Given the description of an element on the screen output the (x, y) to click on. 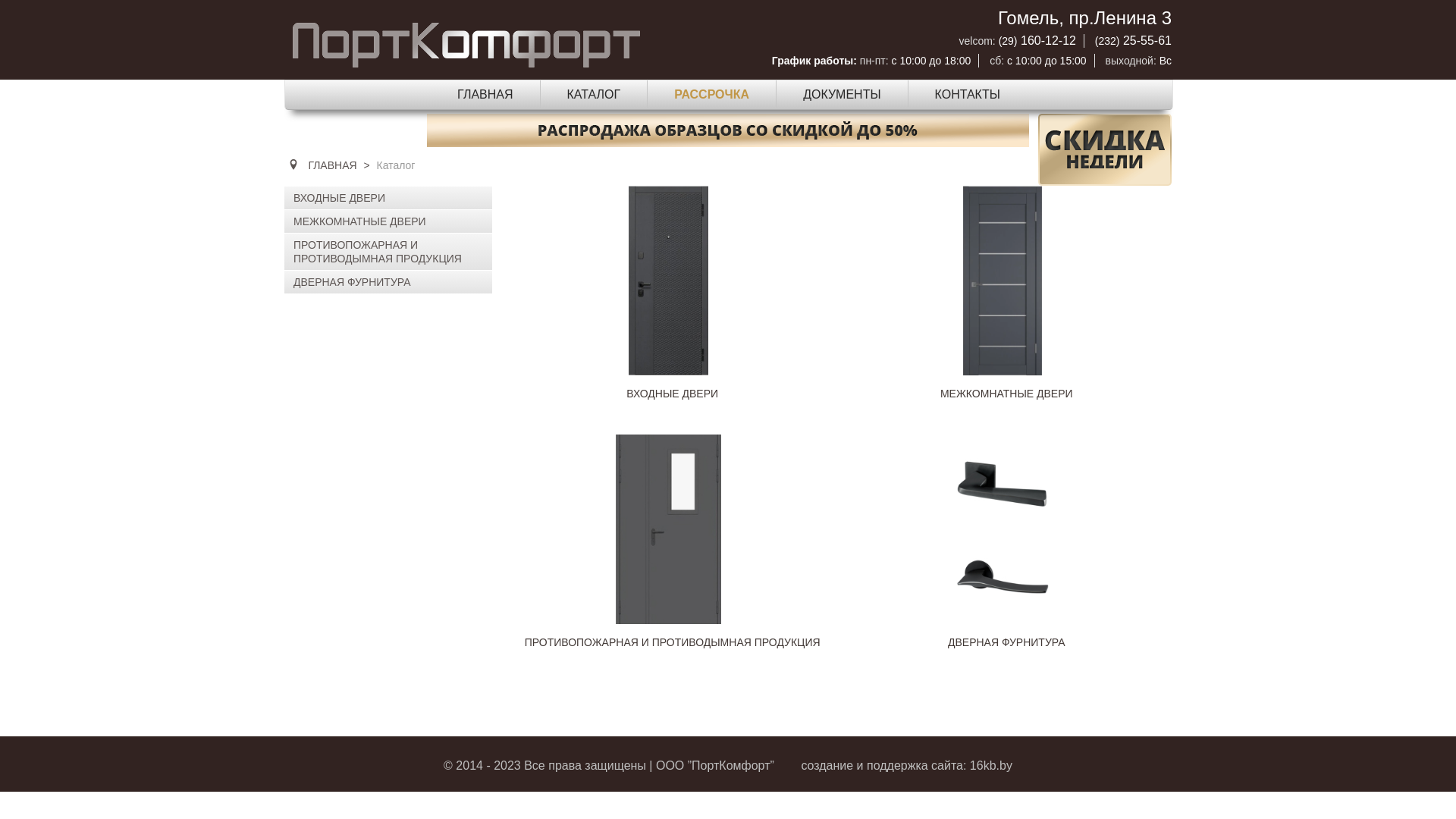
(29) 160-12-12 Element type: text (1037, 40)
(232) 25-55-61 Element type: text (1133, 40)
